Given the description of an element on the screen output the (x, y) to click on. 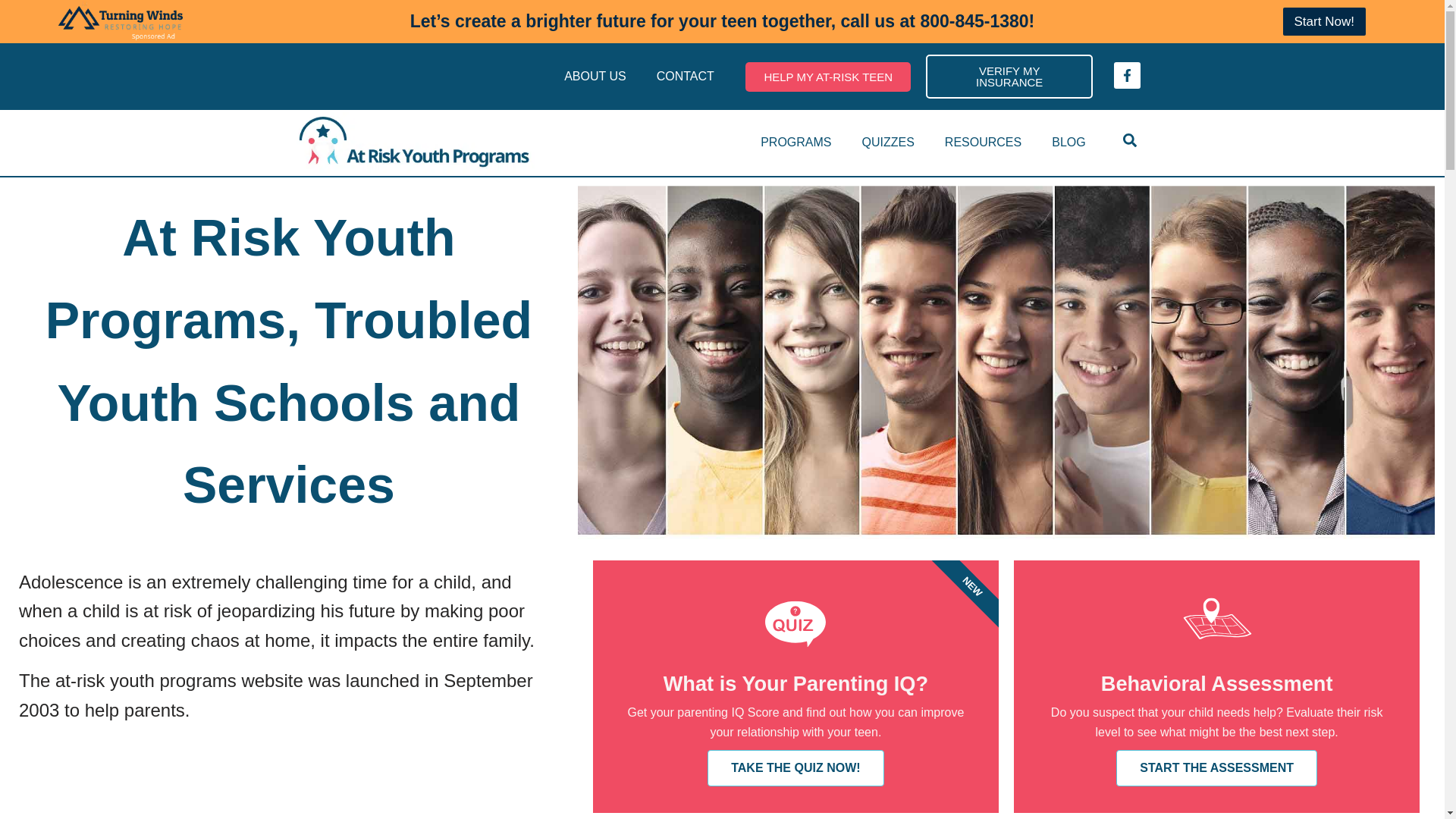
800-845-1380 (973, 21)
RESOURCES (983, 142)
BLOG (1068, 142)
VERIFY MY INSURANCE (1009, 76)
HELP MY AT-RISK TEEN (828, 76)
CONTACT (685, 76)
Start Now! (1323, 21)
QUIZZES (886, 142)
PROGRAMS (795, 142)
START THE ASSESSMENT (1216, 768)
ABOUT US (595, 76)
Skip to content (11, 31)
TAKE THE QUIZ NOW! (795, 768)
